Given the description of an element on the screen output the (x, y) to click on. 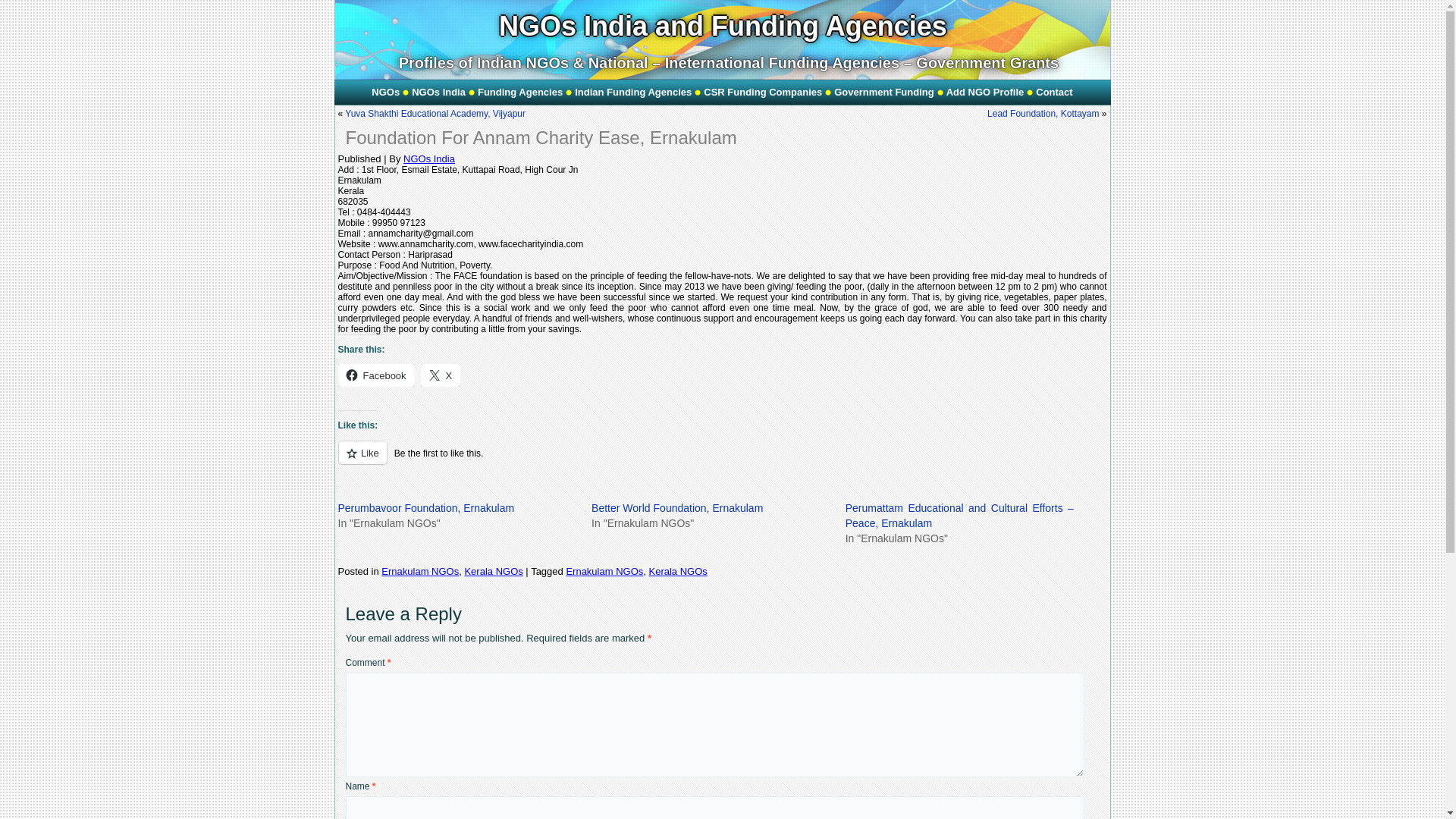
NGOs India (438, 92)
NGOs India (438, 92)
NGOs (385, 92)
NGOs (385, 92)
NGOs India and Funding Agencies (723, 25)
